Given the description of an element on the screen output the (x, y) to click on. 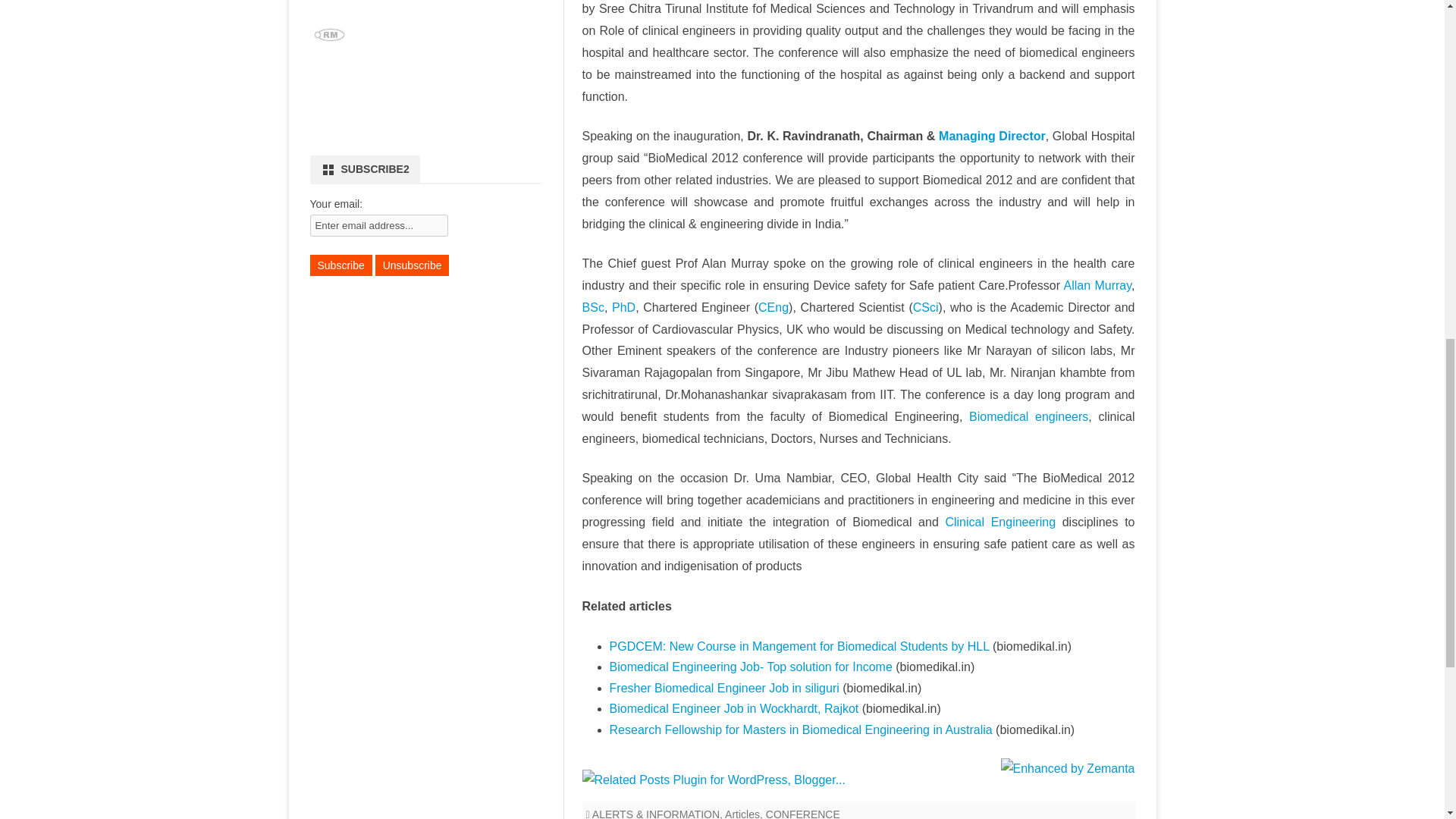
Subscribe (339, 265)
Enter email address... (378, 225)
Unsubscribe (412, 265)
